Given the description of an element on the screen output the (x, y) to click on. 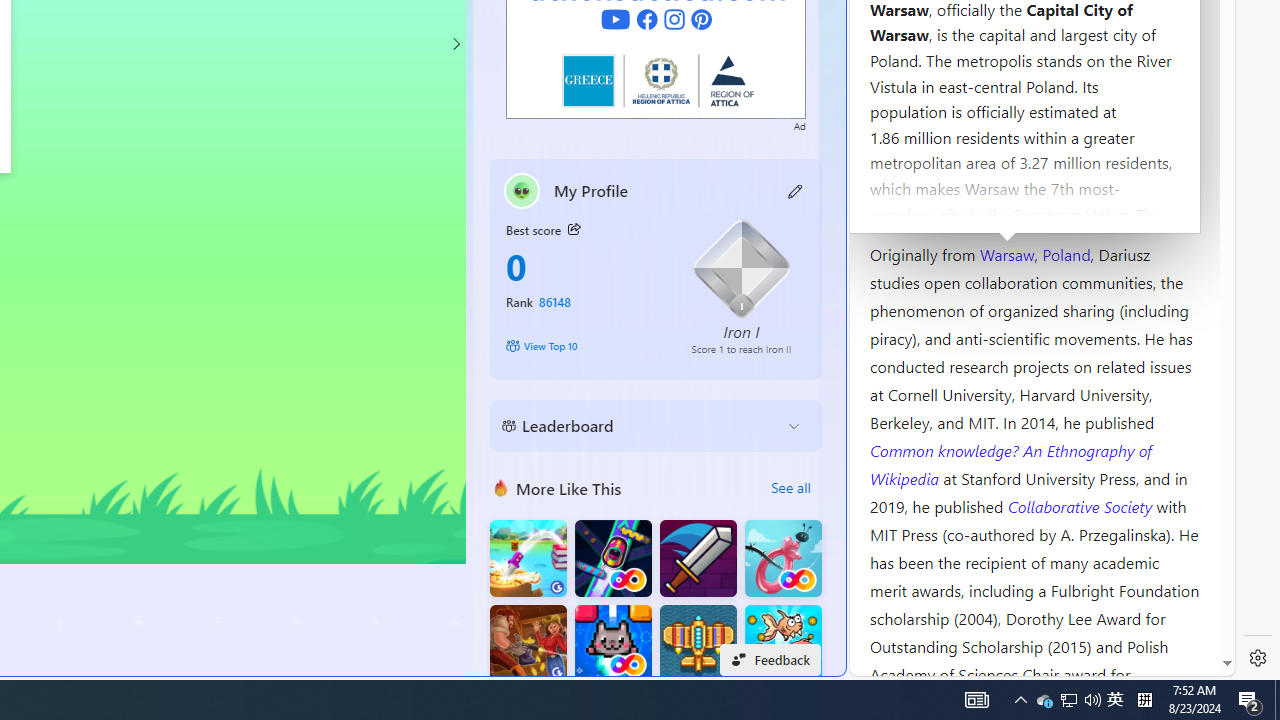
Leaderboard (639, 425)
Bumper Car FRVR (612, 558)
Dungeon Master Knight (698, 558)
See all (790, 487)
Saloon Robbery (528, 643)
Fish Merge FRVR (783, 643)
Atlantic Sky Hunter (698, 643)
Collaborative Society  (1082, 505)
